Given the description of an element on the screen output the (x, y) to click on. 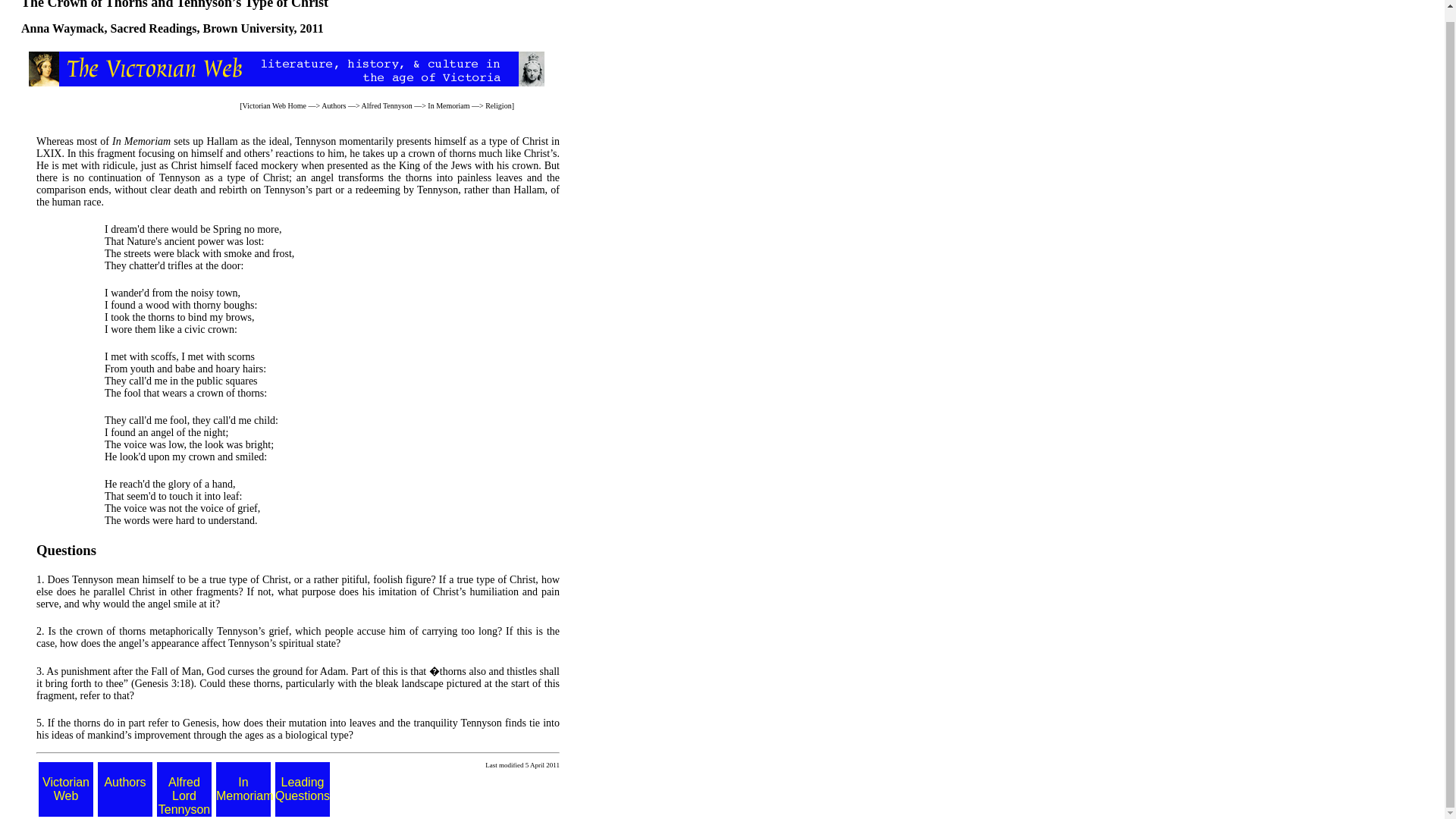
Religion (497, 105)
Alfred Tennyson (386, 105)
Victorian Web Home (275, 105)
Sacred Readings (153, 28)
In Memoriam (448, 105)
Authors (333, 105)
